Given the description of an element on the screen output the (x, y) to click on. 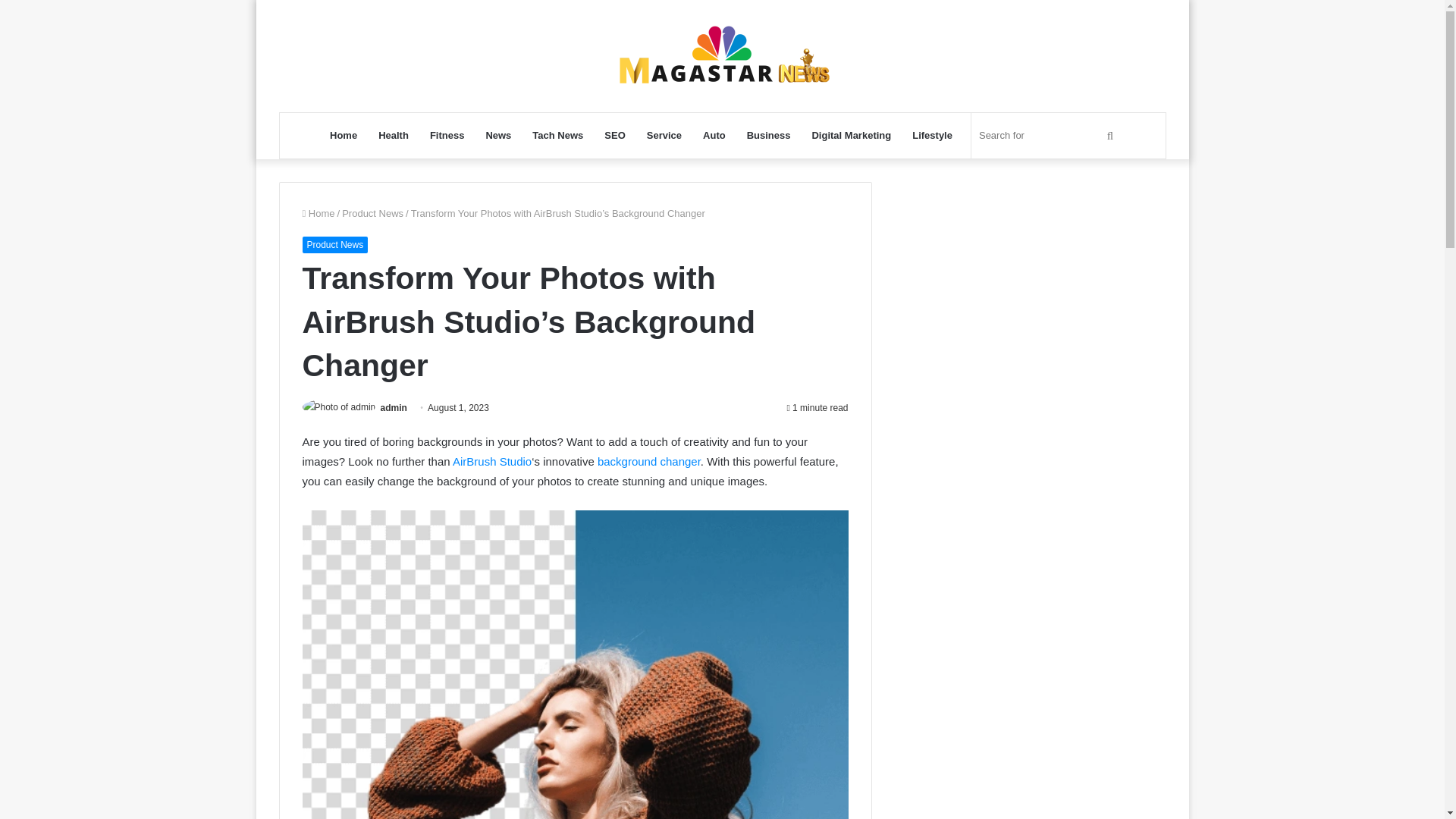
News (497, 135)
Product News (334, 244)
AirBrush Studio (491, 461)
background changer (648, 461)
Search for (1048, 135)
SEO (614, 135)
Tach News (557, 135)
admin (393, 407)
Home (343, 135)
Digital Marketing (850, 135)
Auto (714, 135)
Magastarnews.com (721, 56)
Fitness (447, 135)
Lifestyle (931, 135)
Service (664, 135)
